Given the description of an element on the screen output the (x, y) to click on. 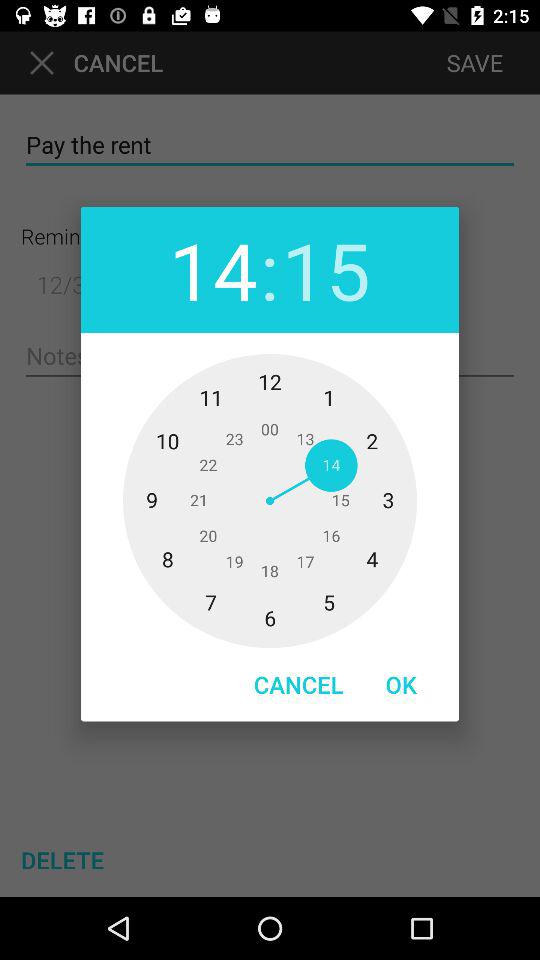
press item to the right of cancel item (401, 684)
